Given the description of an element on the screen output the (x, y) to click on. 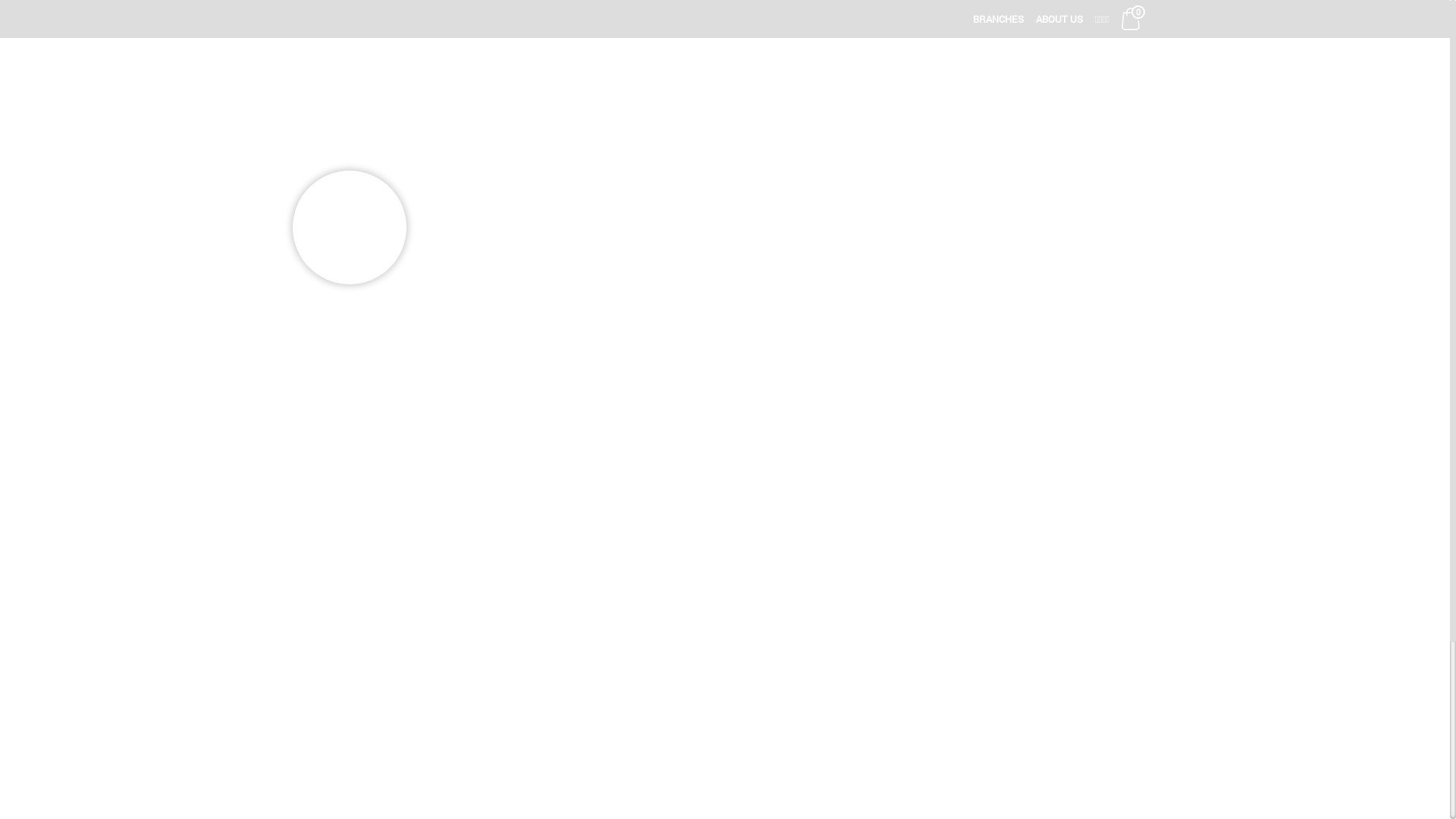
0 Element type: text (1130, 18)
